Given the description of an element on the screen output the (x, y) to click on. 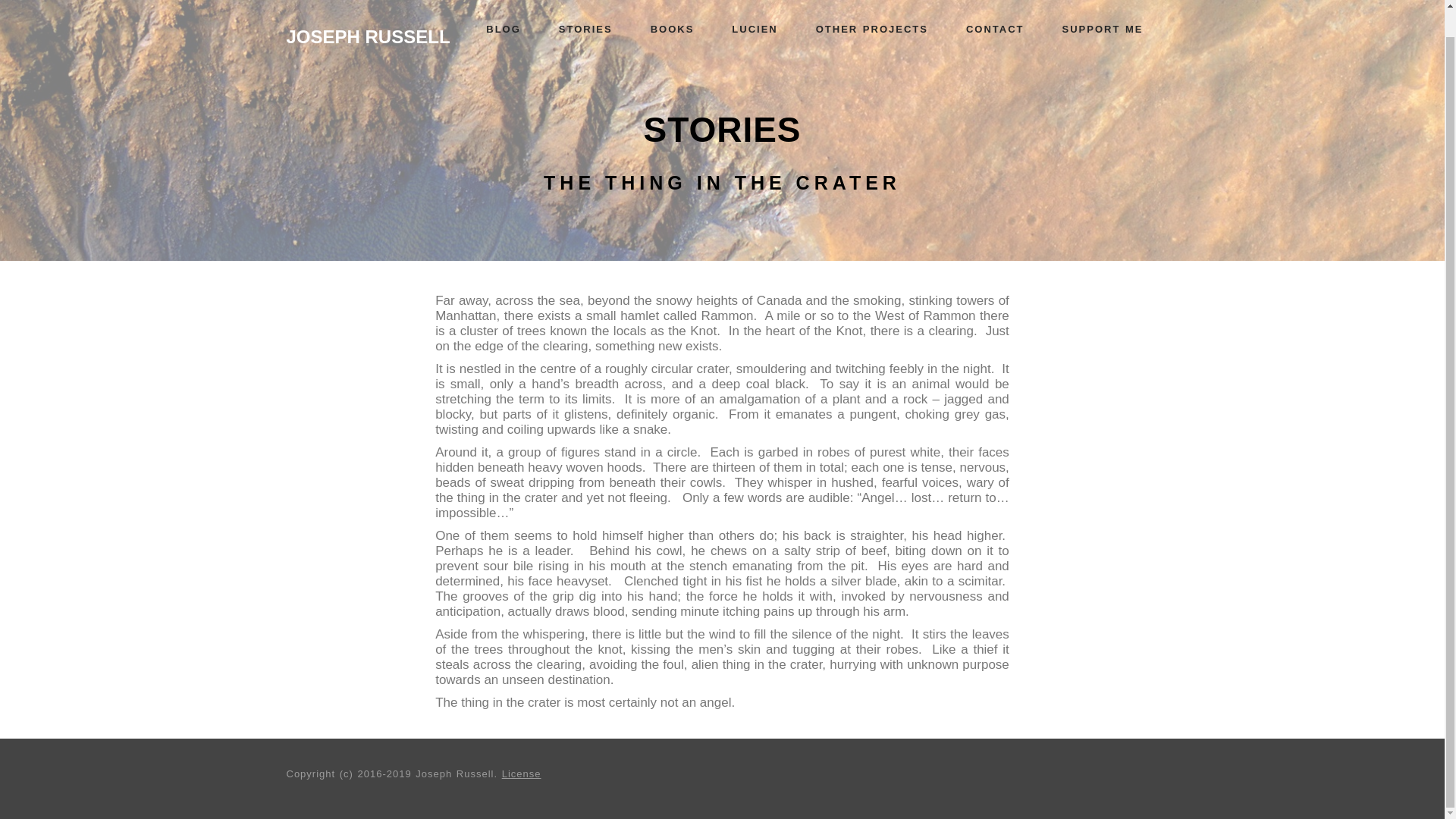
CONTACT (994, 8)
LUCIEN (754, 8)
BOOKS (672, 8)
BLOG (502, 8)
JOSEPH RUSSELL (367, 11)
STORIES (585, 8)
OTHER PROJECTS (871, 8)
License (521, 773)
SUPPORT ME (1102, 8)
